Given the description of an element on the screen output the (x, y) to click on. 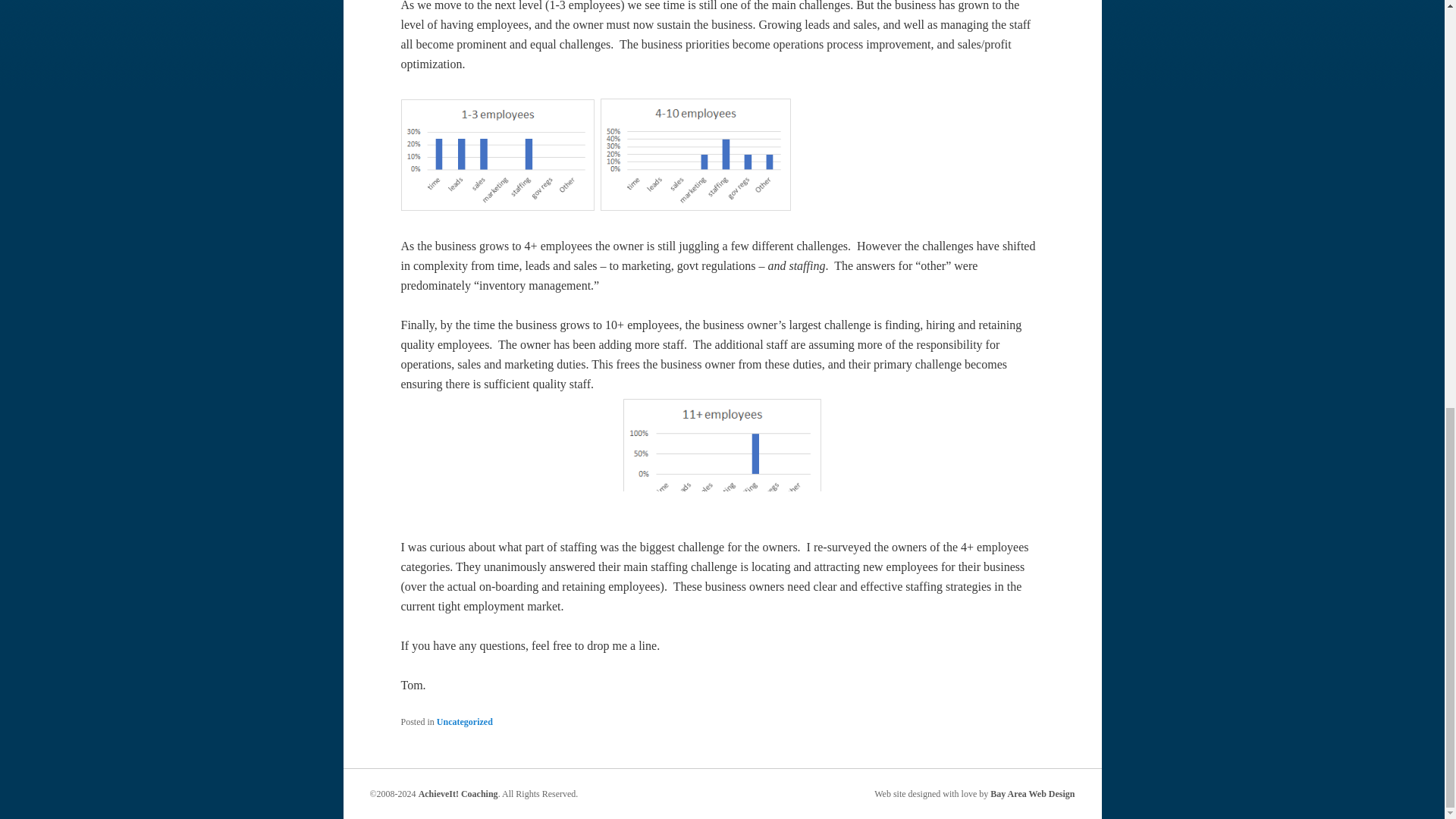
Bay Area Web Design (1032, 793)
AchieveIt! Coaching (458, 793)
Uncategorized (464, 721)
Stefanie Herzer (1032, 793)
AchieveIt! Coaching (458, 793)
